Given the description of an element on the screen output the (x, y) to click on. 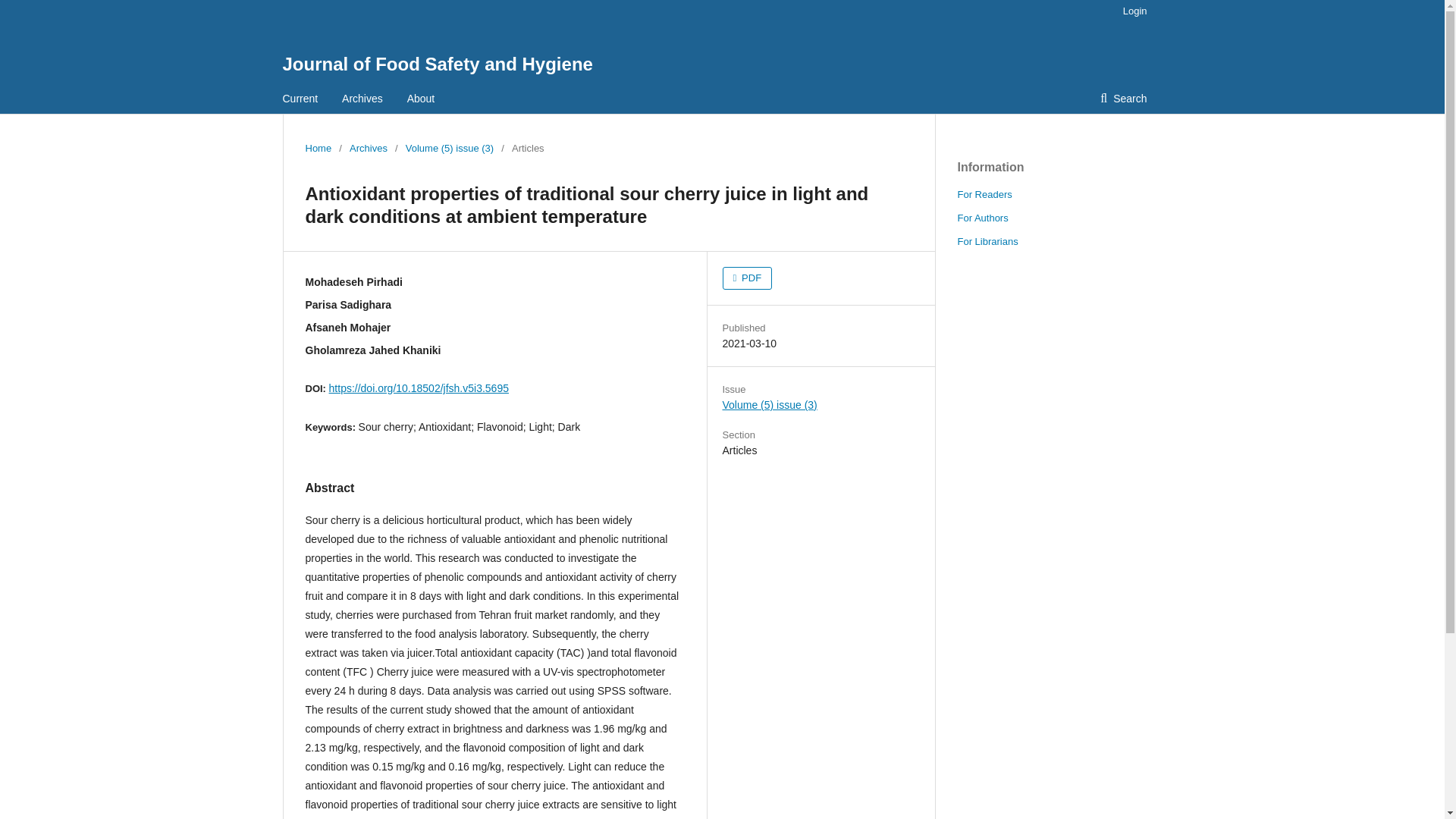
Current (299, 98)
For Authors (981, 217)
For Readers (983, 194)
Login (1131, 11)
About (421, 98)
For Librarians (986, 241)
Journal of Food Safety and Hygiene (437, 64)
Home (317, 148)
Archives (368, 148)
PDF (746, 277)
